Given the description of an element on the screen output the (x, y) to click on. 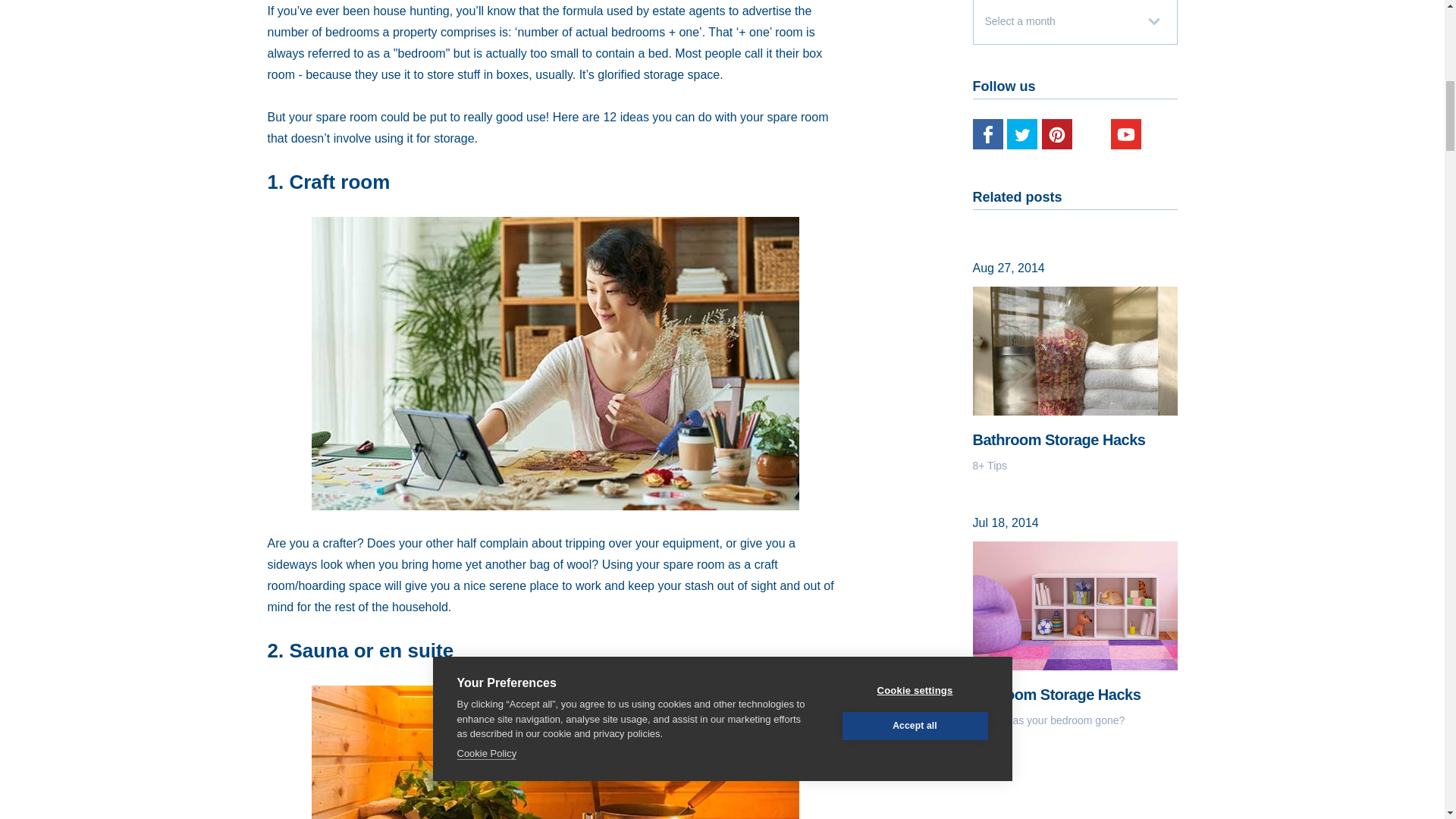
Select a month (1074, 22)
iStock-949183588.jpg (555, 752)
Cookie Policy (486, 42)
